Given the description of an element on the screen output the (x, y) to click on. 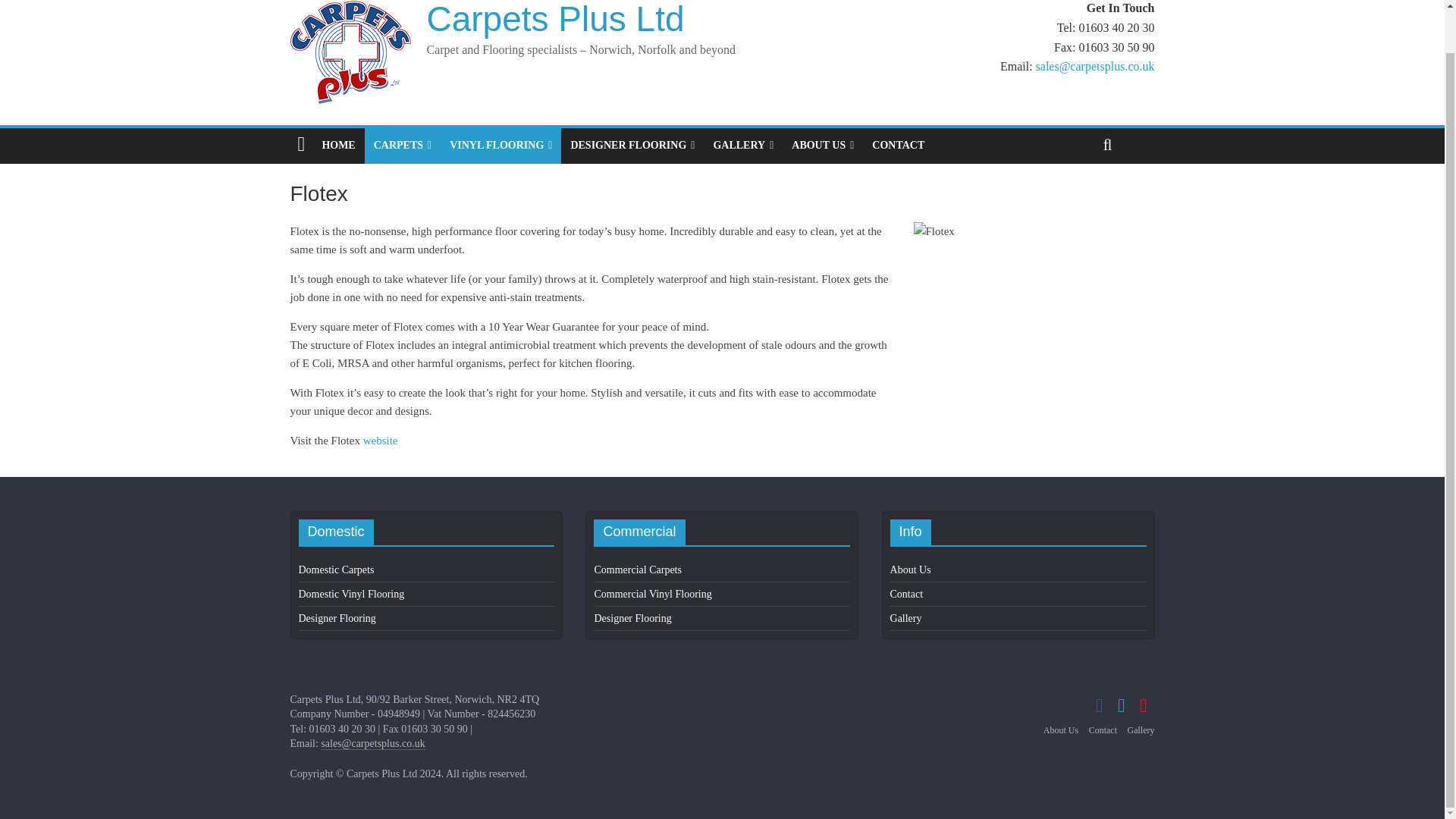
CARPETS (403, 144)
Carpets Plus Ltd (555, 19)
Carpets Plus Ltd (555, 19)
HOME (338, 144)
VINYL FLOORING (500, 144)
